Given the description of an element on the screen output the (x, y) to click on. 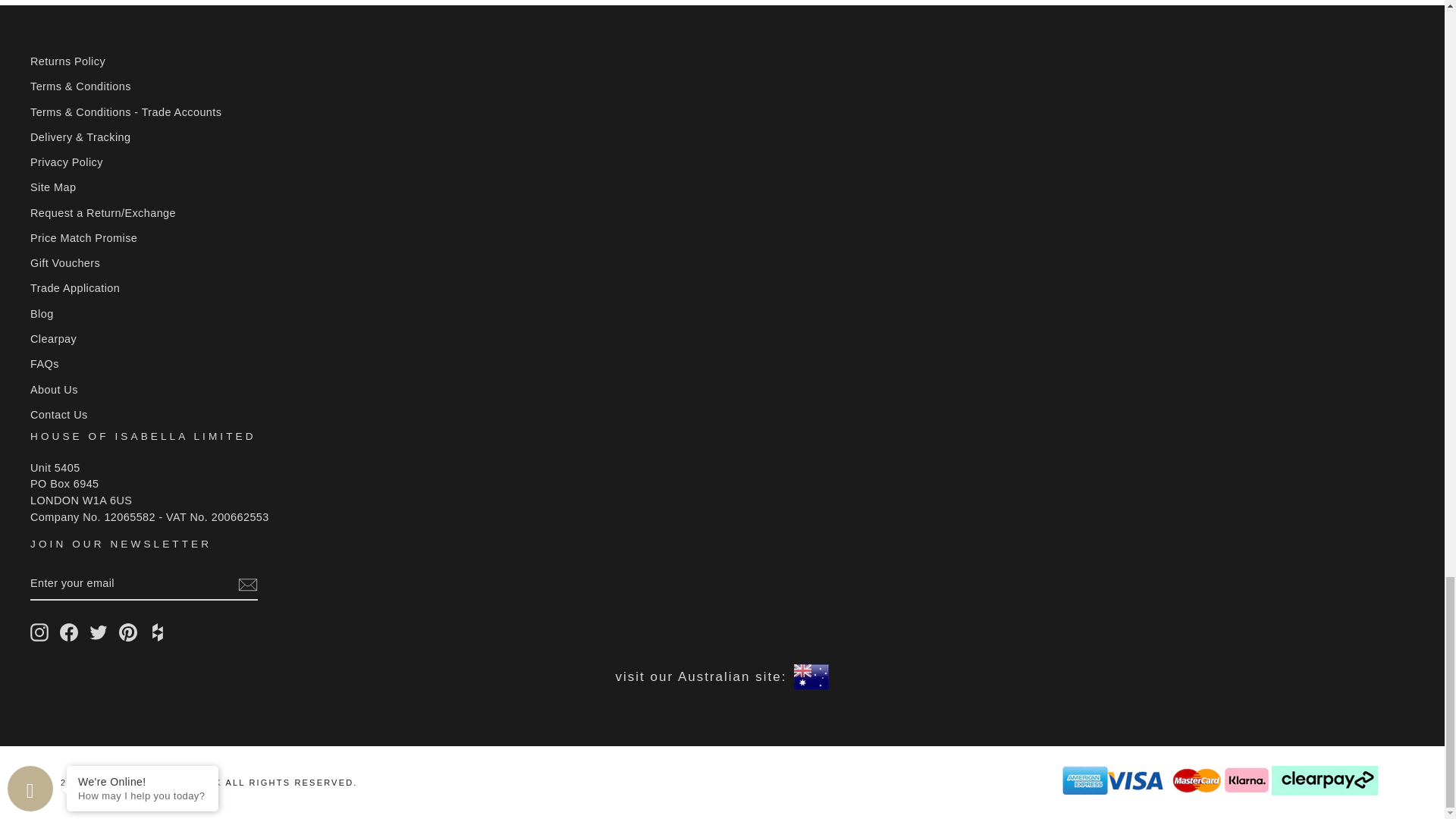
House of Isabella UK on Instagram (39, 632)
House of Isabella UK on Pinterest (127, 632)
House of Isabella UK on Facebook (68, 632)
House of Isabella UK on Twitter (97, 632)
